Given the description of an element on the screen output the (x, y) to click on. 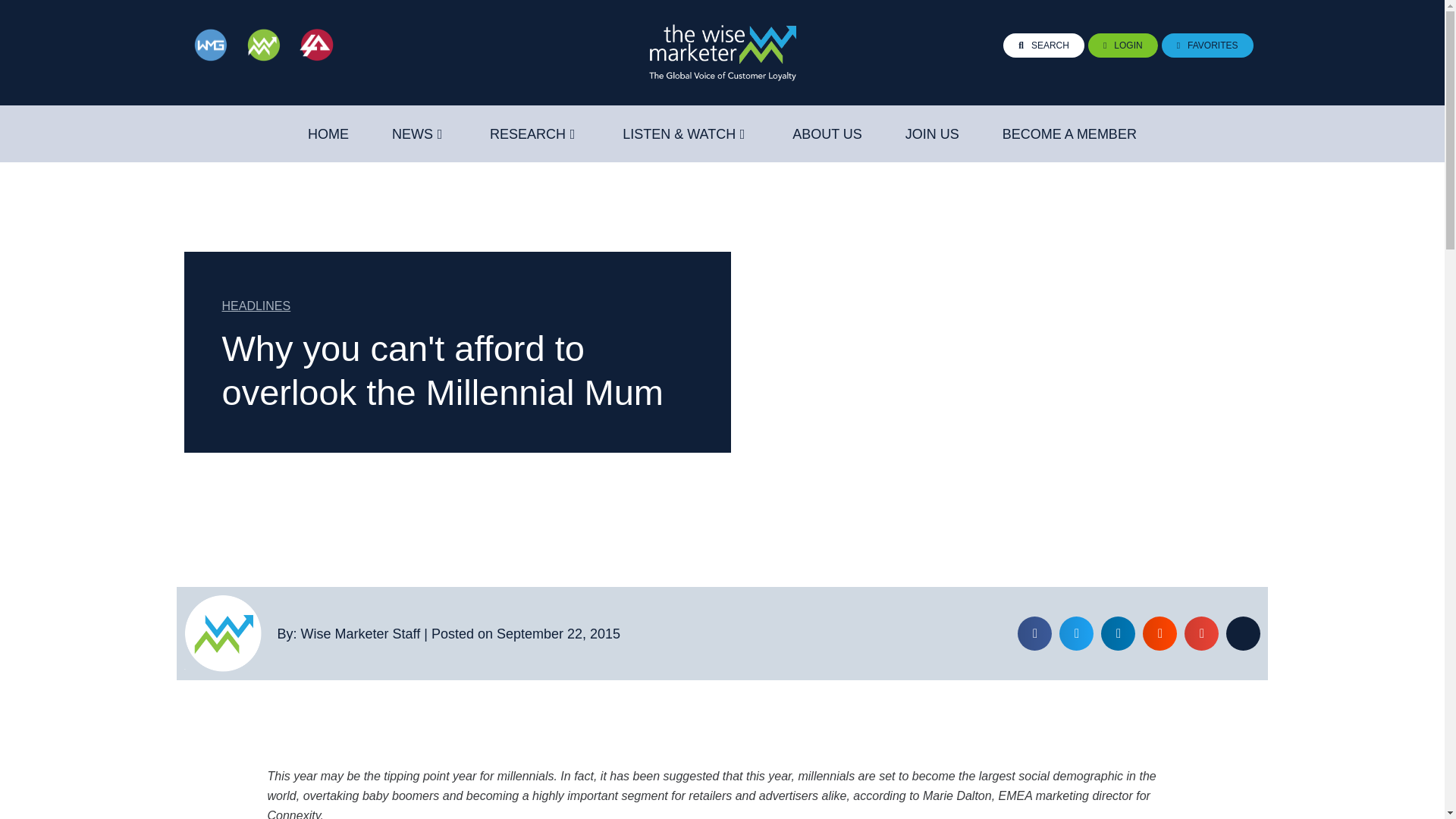
JOIN US (932, 134)
LOGIN (1122, 45)
HOME (328, 134)
FAVORITES (1207, 45)
SEARCH (1043, 45)
ABOUT US (826, 134)
BECOME A MEMBER (1070, 134)
WM Circle Logo (222, 633)
RESEARCH (527, 134)
NEWS (411, 134)
